Given the description of an element on the screen output the (x, y) to click on. 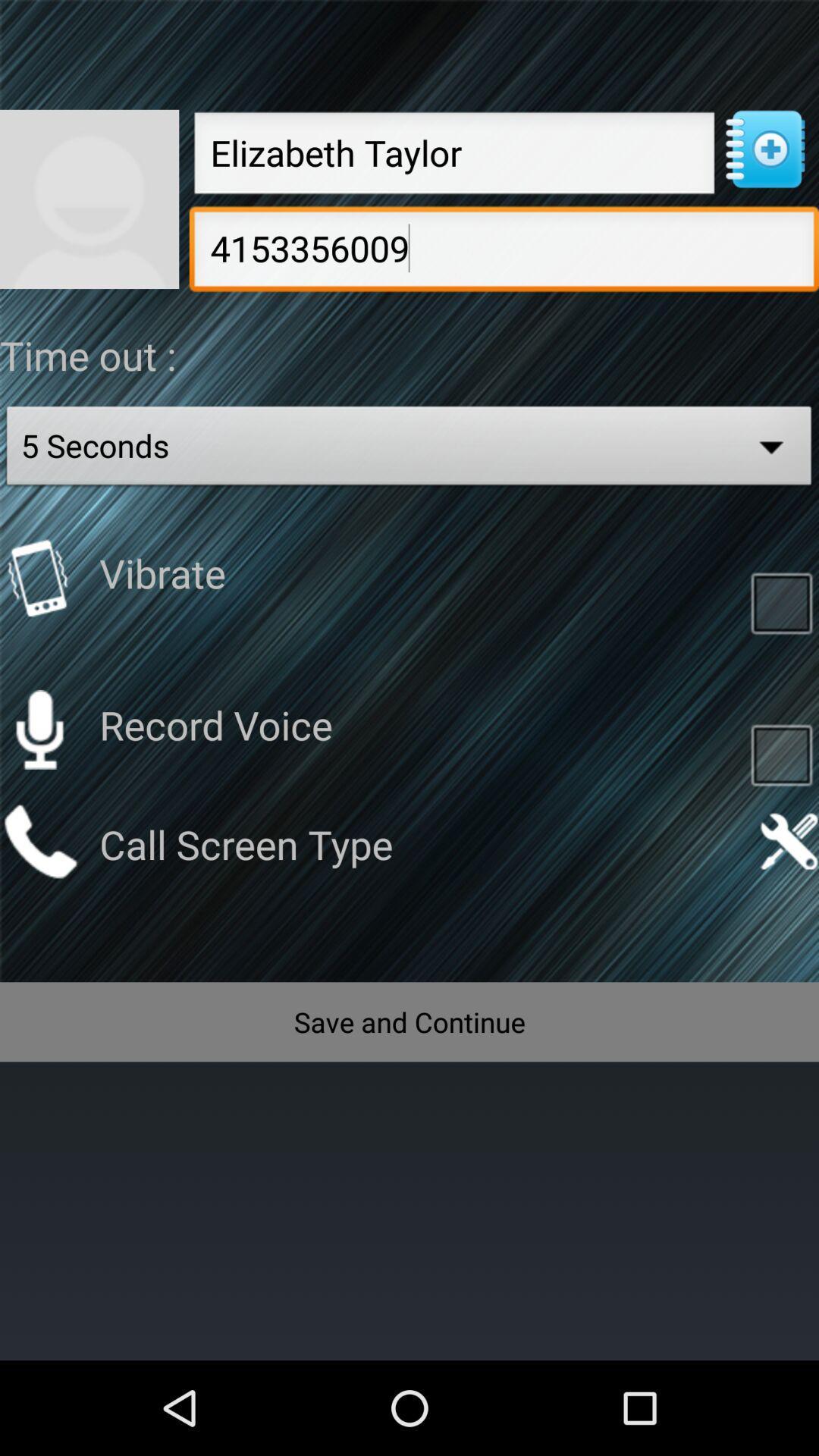
call screen type (39, 841)
